Given the description of an element on the screen output the (x, y) to click on. 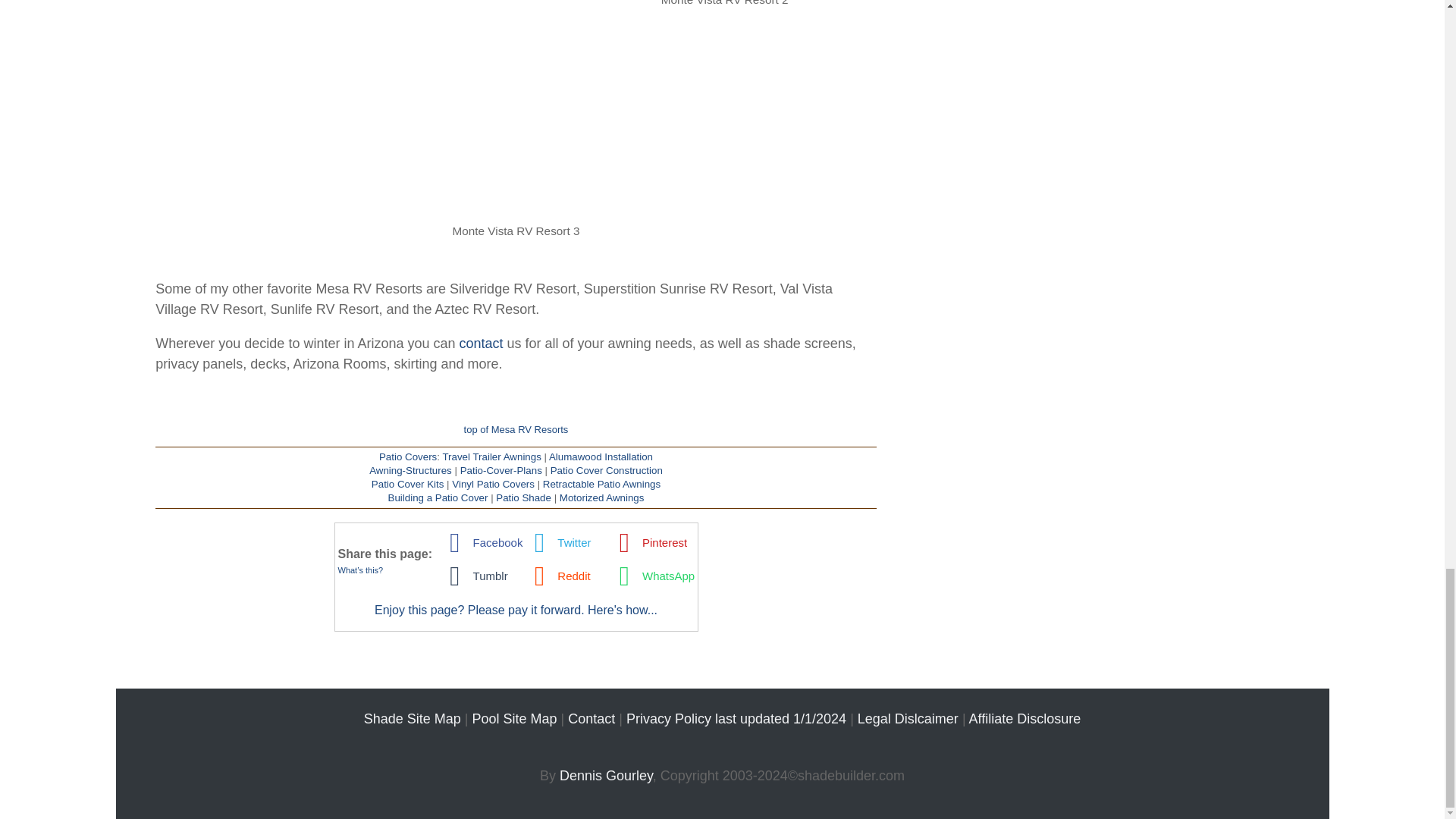
Pinterest (649, 541)
Twitter (559, 541)
Patio Cover Kits (407, 483)
Enjoy this page? Please pay it forward. Here's how... (516, 609)
Patio Shade (523, 497)
Retractable Patio Awnings (602, 483)
Facebook (482, 541)
Travel Trailer Awnings (491, 456)
Tumblr (475, 575)
Alumawood Installation (600, 456)
Vinyl Patio Covers (492, 483)
Patio Cover Construction (606, 470)
top of Mesa RV Resorts (516, 429)
Motorized Awnings (602, 497)
Reddit (559, 575)
